Given the description of an element on the screen output the (x, y) to click on. 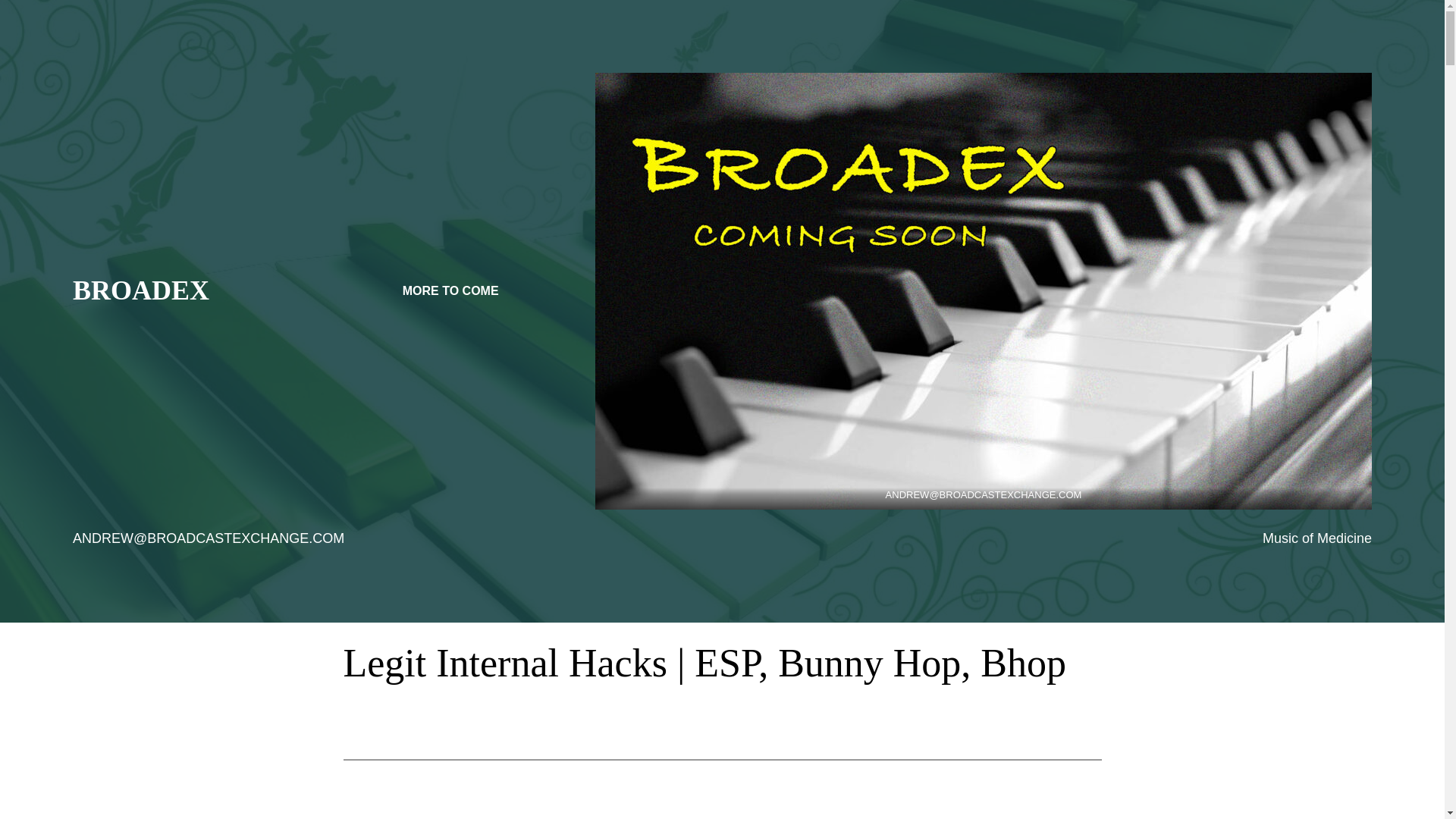
Music of Medicine (1316, 538)
